Given the description of an element on the screen output the (x, y) to click on. 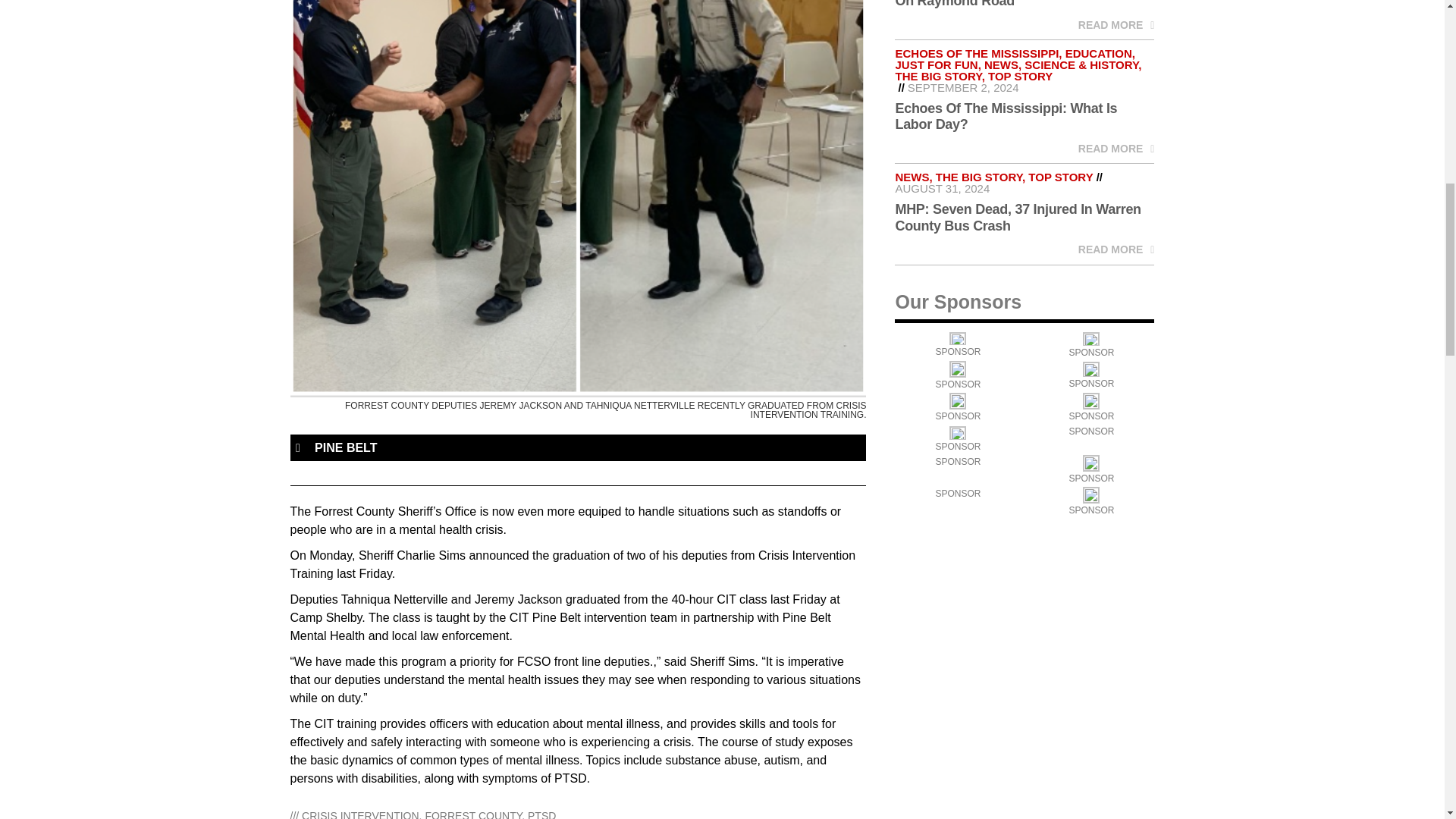
FORREST COUNTY (473, 814)
CRISIS INTERVENTION (360, 814)
PTSD (541, 814)
PINE BELT (345, 447)
